Given the description of an element on the screen output the (x, y) to click on. 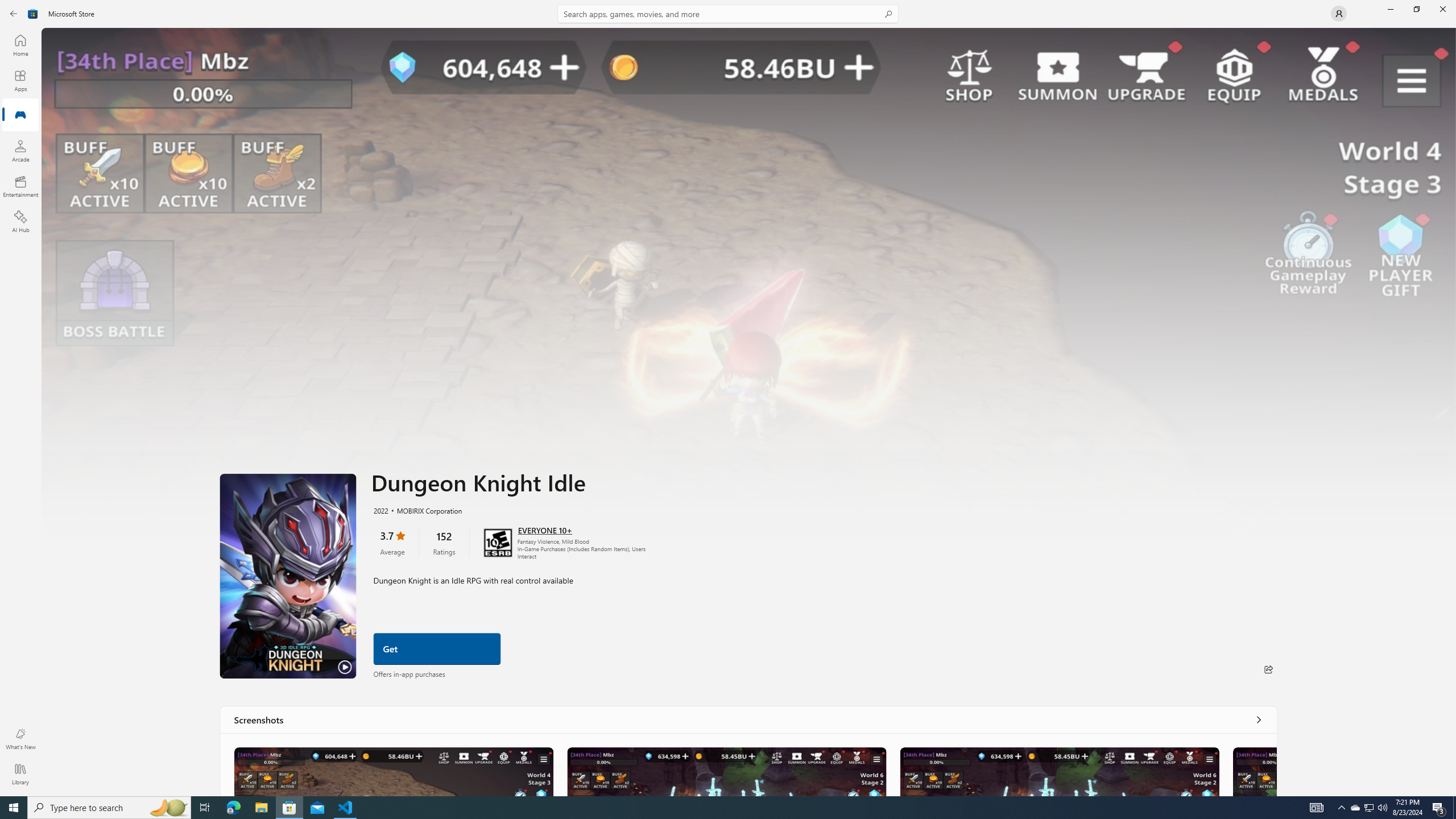
Screenshot 3 (1058, 771)
MOBIRIX Corporation (424, 510)
2022 (379, 510)
Back (13, 13)
Play Trailer (287, 575)
3.7 stars. Click to skip to ratings and reviews (391, 541)
Age rating: EVERYONE 10+. Click for more information. (545, 529)
